Given the description of an element on the screen output the (x, y) to click on. 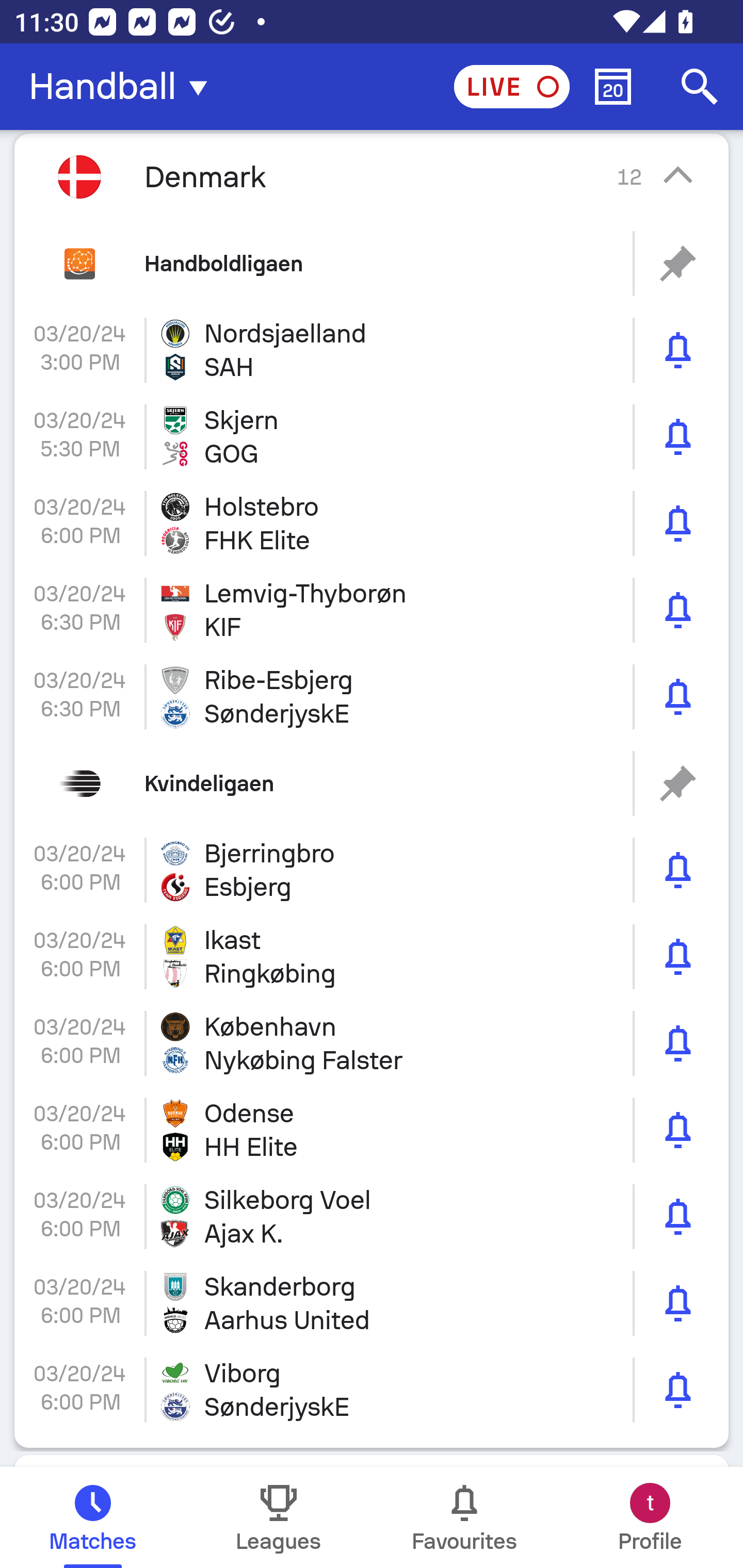
Handball (124, 86)
Calendar (612, 86)
Search (699, 86)
Denmark 12 (371, 176)
Handboldligaen (371, 263)
03/20/24 3:00 PM Nordsjaelland SAH (371, 350)
03/20/24 5:30 PM Skjern GOG (371, 436)
03/20/24 6:00 PM Holstebro FHK Elite (371, 523)
03/20/24 6:30 PM Lemvig-Thyborøn KIF (371, 610)
03/20/24 6:30 PM Ribe-Esbjerg SønderjyskE (371, 696)
Kvindeligaen (371, 783)
03/20/24 6:00 PM Bjerringbro Esbjerg (371, 870)
03/20/24 6:00 PM Ikast Ringkøbing (371, 957)
03/20/24 6:00 PM København Nykøbing Falster (371, 1043)
03/20/24 6:00 PM Odense HH Elite (371, 1129)
03/20/24 6:00 PM Silkeborg Voel Ajax K. (371, 1216)
03/20/24 6:00 PM Skanderborg Aarhus United (371, 1303)
03/20/24 6:00 PM Viborg SønderjyskE (371, 1389)
Leagues (278, 1517)
Favourites (464, 1517)
Profile (650, 1517)
